Given the description of an element on the screen output the (x, y) to click on. 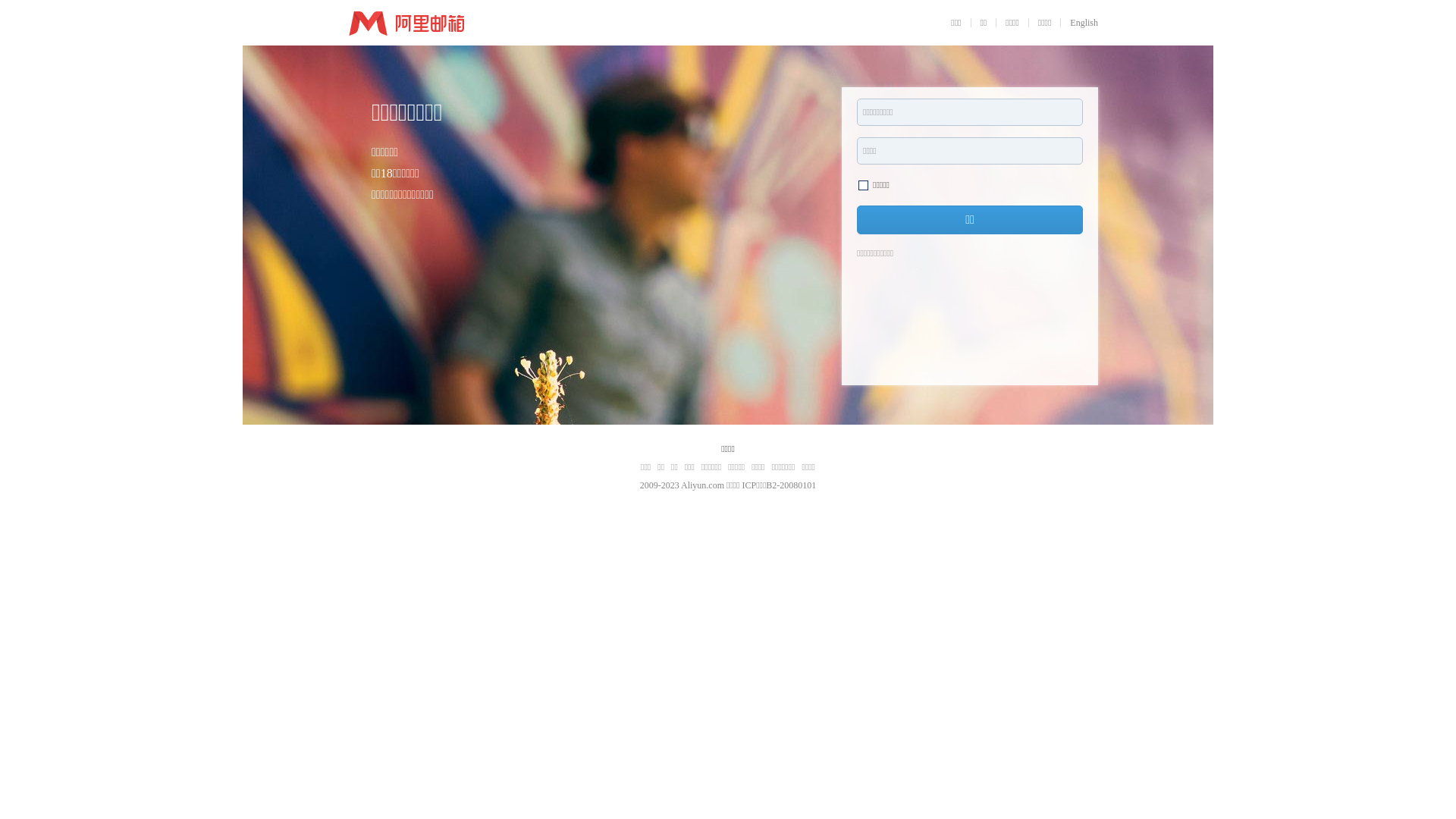
English Element type: text (1083, 22)
